Given the description of an element on the screen output the (x, y) to click on. 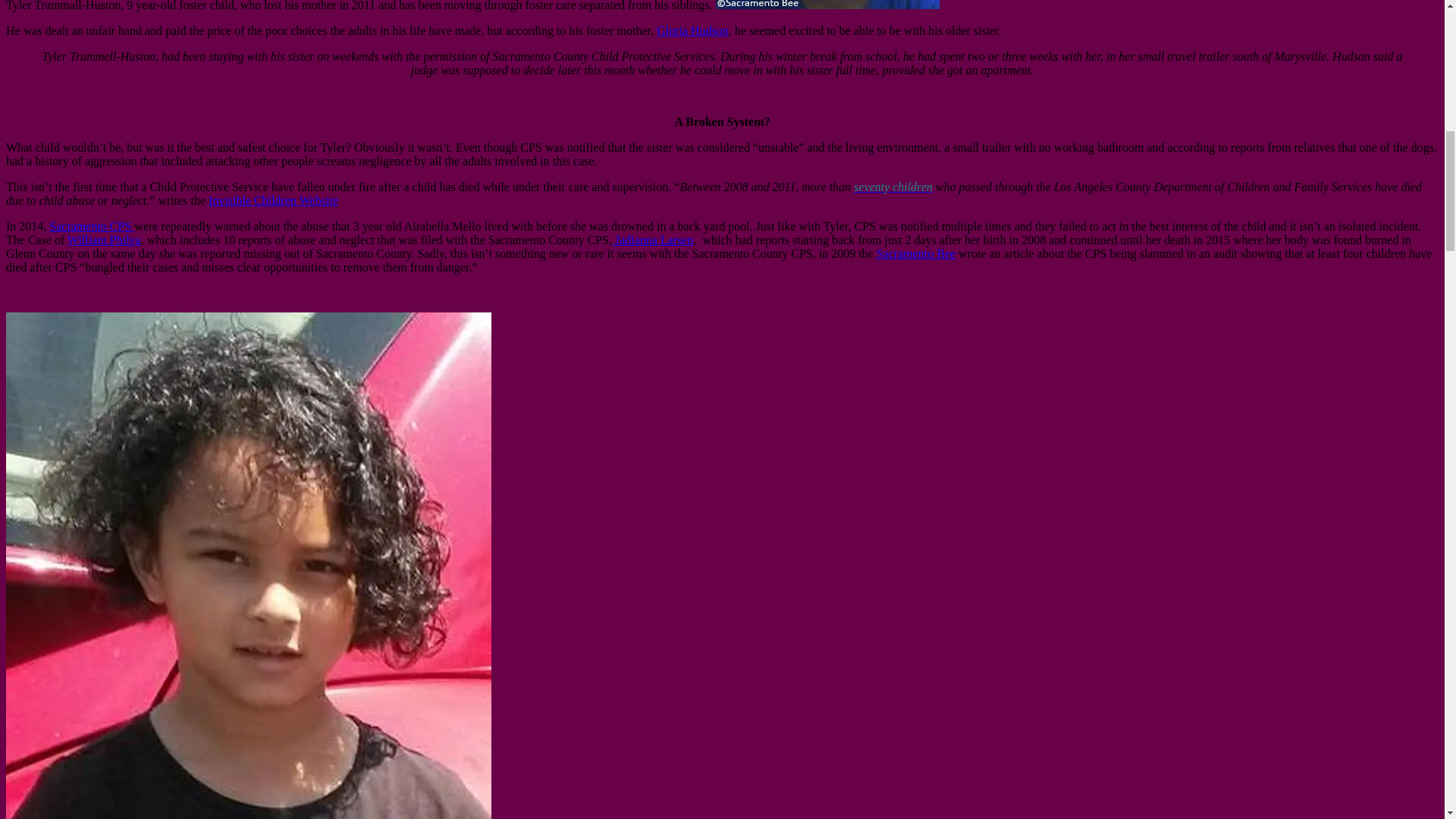
Invisible Children Website (272, 200)
Gloria Hudson (692, 30)
seventy children (893, 186)
Jadianna Larsen (652, 239)
William Philya (103, 239)
Sacramento Bee (915, 253)
Sacramento CPS (91, 226)
